Given the description of an element on the screen output the (x, y) to click on. 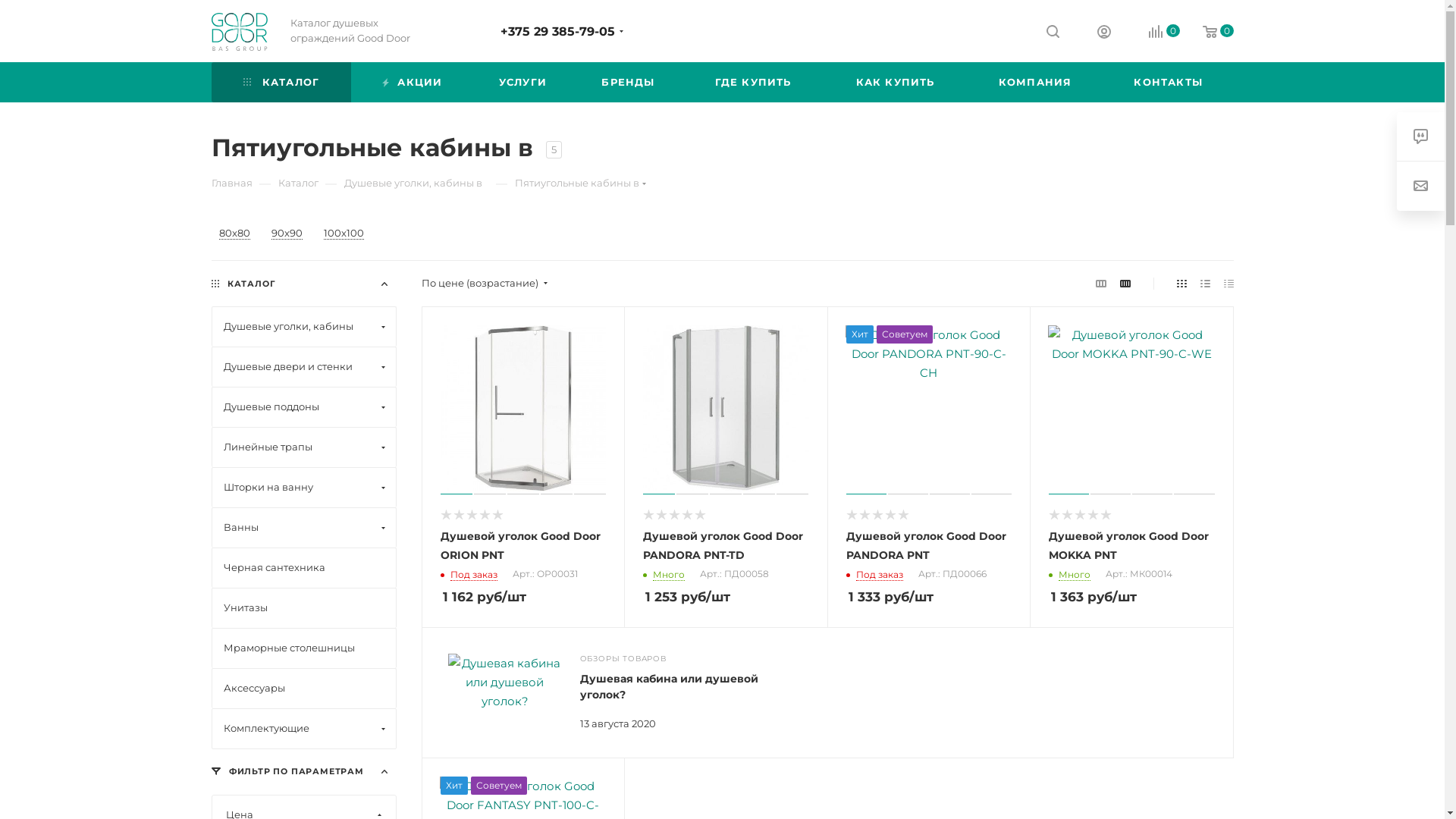
0 Element type: text (1152, 31)
90x90 Element type: text (286, 233)
100x100 Element type: text (342, 233)
80x80 Element type: text (233, 233)
0 Element type: text (1206, 31)
Y Element type: text (4, 4)
+375 29 385-79-05 Element type: text (557, 31)
